Given the description of an element on the screen output the (x, y) to click on. 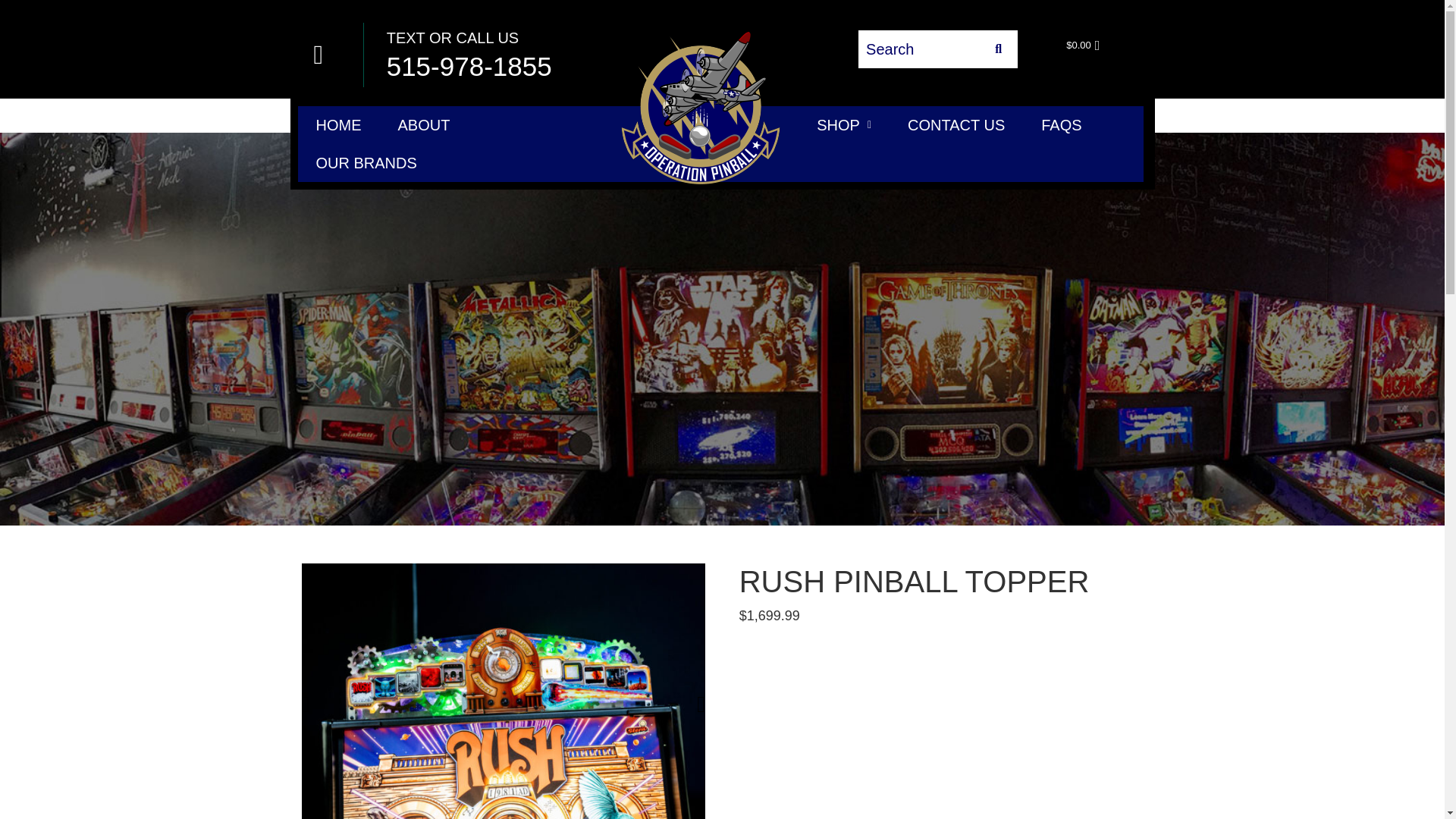
OUR BRANDS (365, 162)
Search (919, 48)
SHOP (843, 125)
515-978-1855 (469, 66)
HOME (337, 125)
FAQS (1061, 125)
Rush Pinball Accessories Trailer (928, 728)
ABOUT (422, 125)
CONTACT US (956, 125)
